Given the description of an element on the screen output the (x, y) to click on. 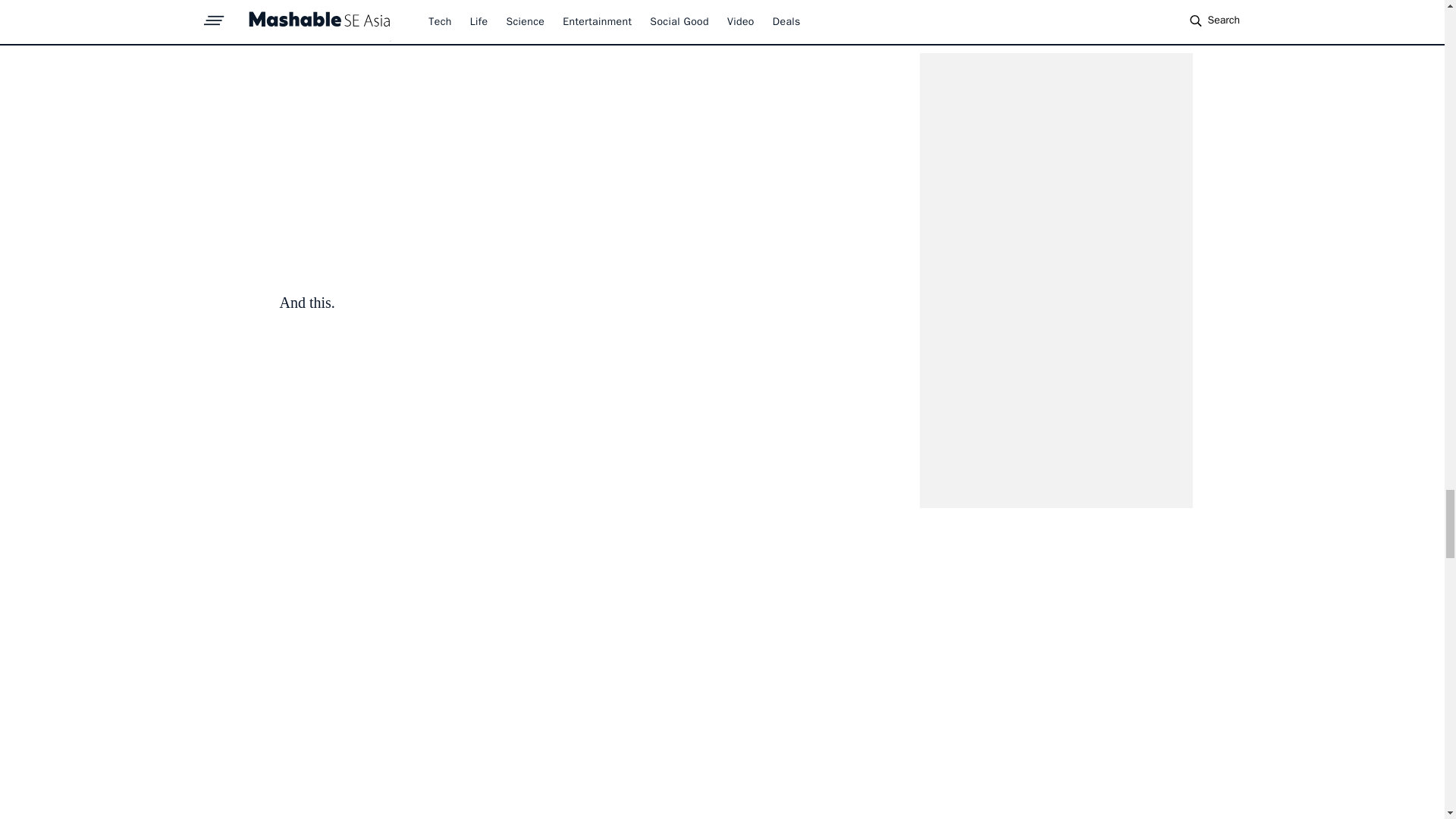
Twitter Tweet (570, 137)
